Given the description of an element on the screen output the (x, y) to click on. 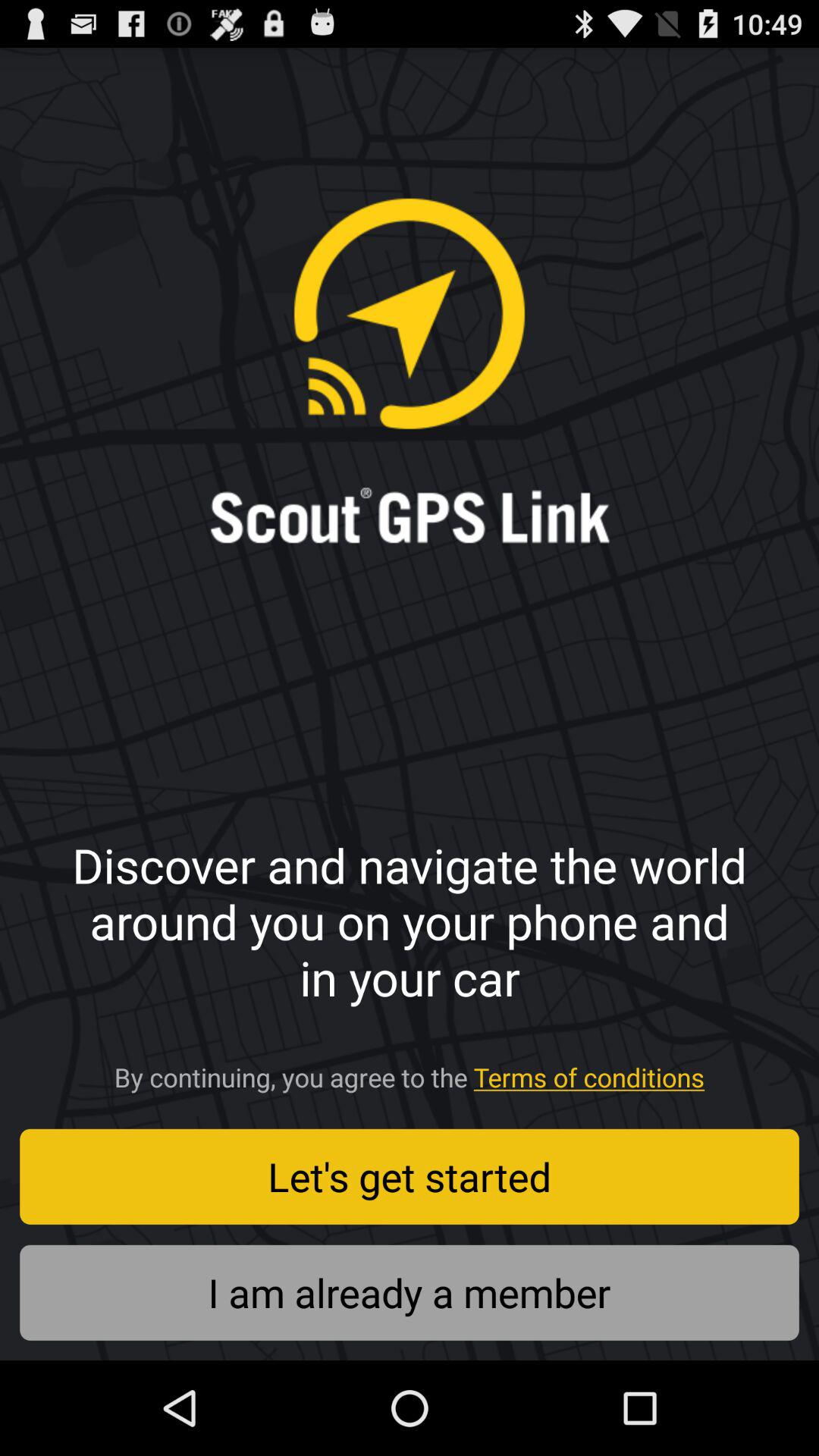
scroll until by continuing you app (409, 1072)
